Given the description of an element on the screen output the (x, y) to click on. 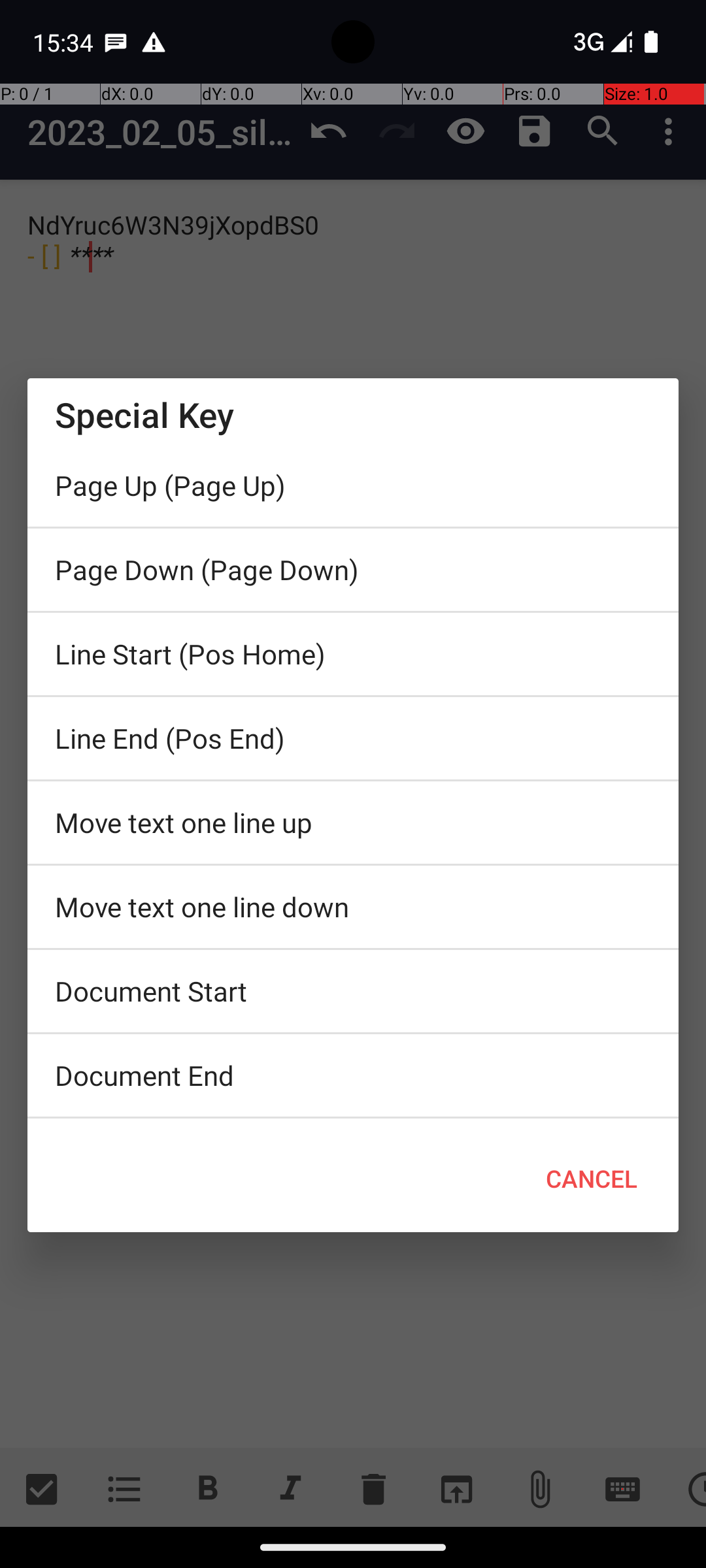
Page Up (Page Up) Element type: android.widget.TextView (352, 485)
Page Down (Page Down) Element type: android.widget.TextView (352, 569)
Line Start (Pos Home) Element type: android.widget.TextView (352, 653)
Line End (Pos End) Element type: android.widget.TextView (352, 738)
Move text one line up Element type: android.widget.TextView (352, 822)
Move text one line down Element type: android.widget.TextView (352, 906)
Document Start Element type: android.widget.TextView (352, 990)
Document End Element type: android.widget.TextView (352, 1075)
Select all (Ctrl+A) Element type: android.widget.TextView (352, 1121)
